Given the description of an element on the screen output the (x, y) to click on. 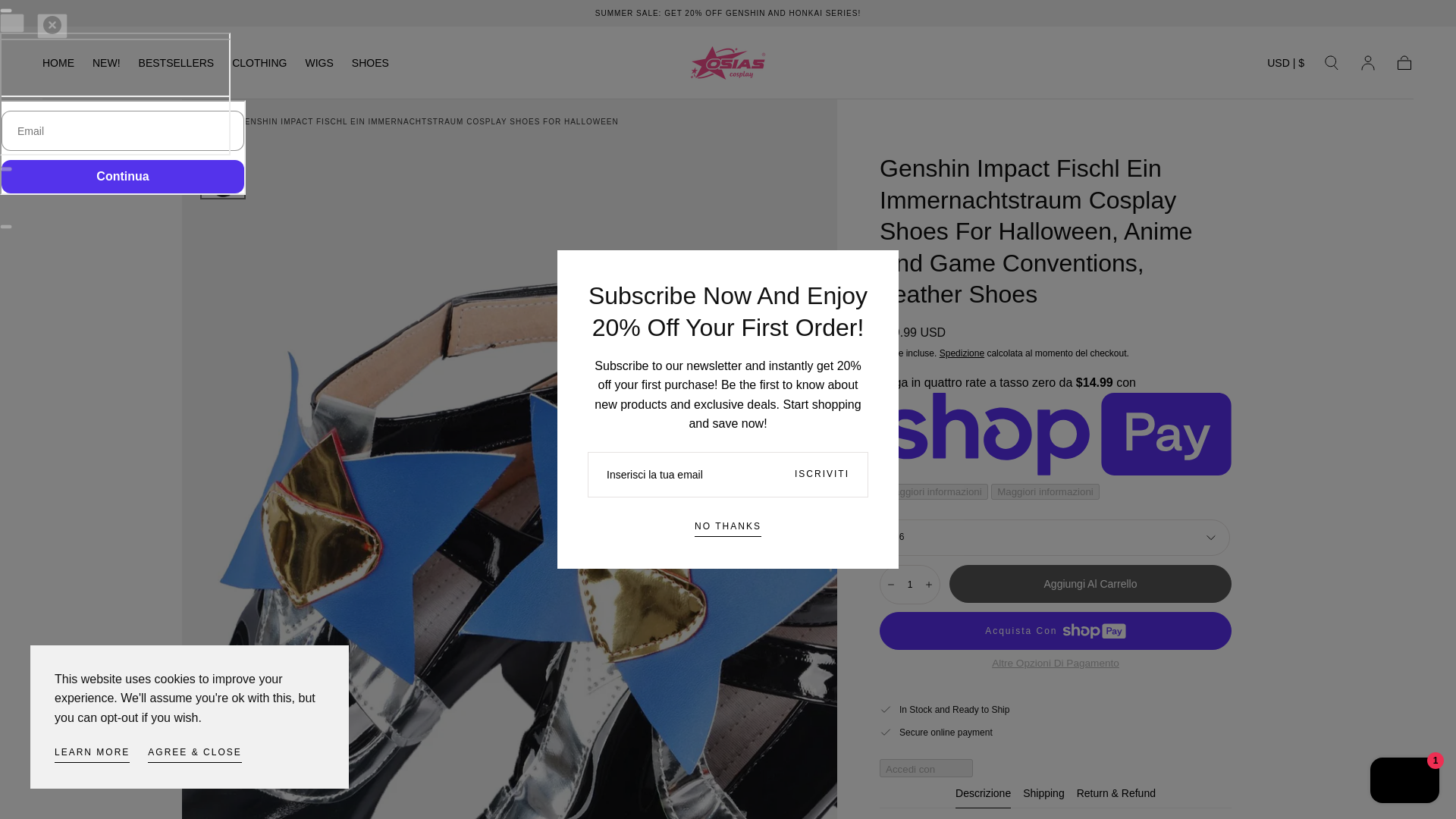
Carrello (1403, 63)
ISCRIVITI (821, 474)
BESTSELLERS (176, 65)
HOME (58, 65)
NO THANKS (727, 528)
CLOTHING (258, 65)
CLOTHING (258, 65)
BESTSELLERS (176, 65)
LEARN MORE (92, 754)
NEW! (106, 65)
SHOES (370, 65)
Chat negozio online di Shopify (1404, 781)
Salta Al Contenuto (67, 18)
NEW! (106, 65)
HOME (58, 65)
